Given the description of an element on the screen output the (x, y) to click on. 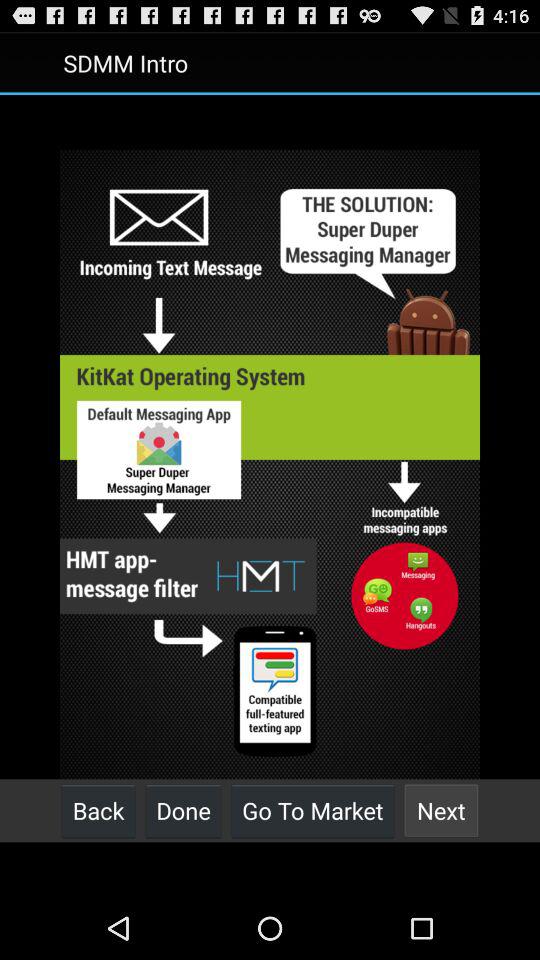
launch the item above the back button (270, 464)
